Given the description of an element on the screen output the (x, y) to click on. 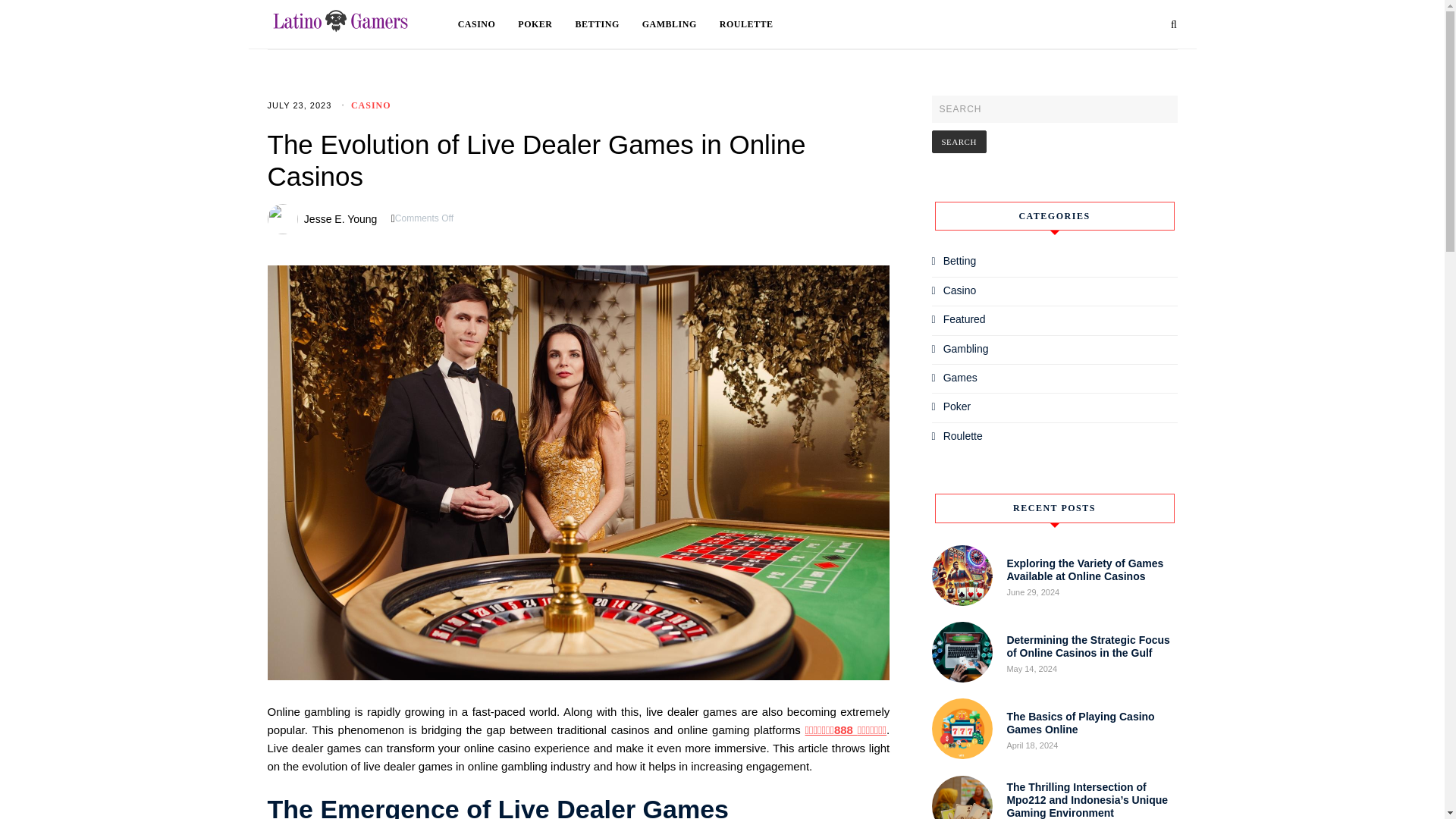
POKER (546, 23)
ROULETTE (746, 23)
Poker (957, 406)
Jesse E. Young (340, 218)
GAMBLING (680, 23)
Roulette (962, 435)
Games (959, 377)
Casino (959, 290)
BETTING (608, 23)
Featured (964, 318)
